Given the description of an element on the screen output the (x, y) to click on. 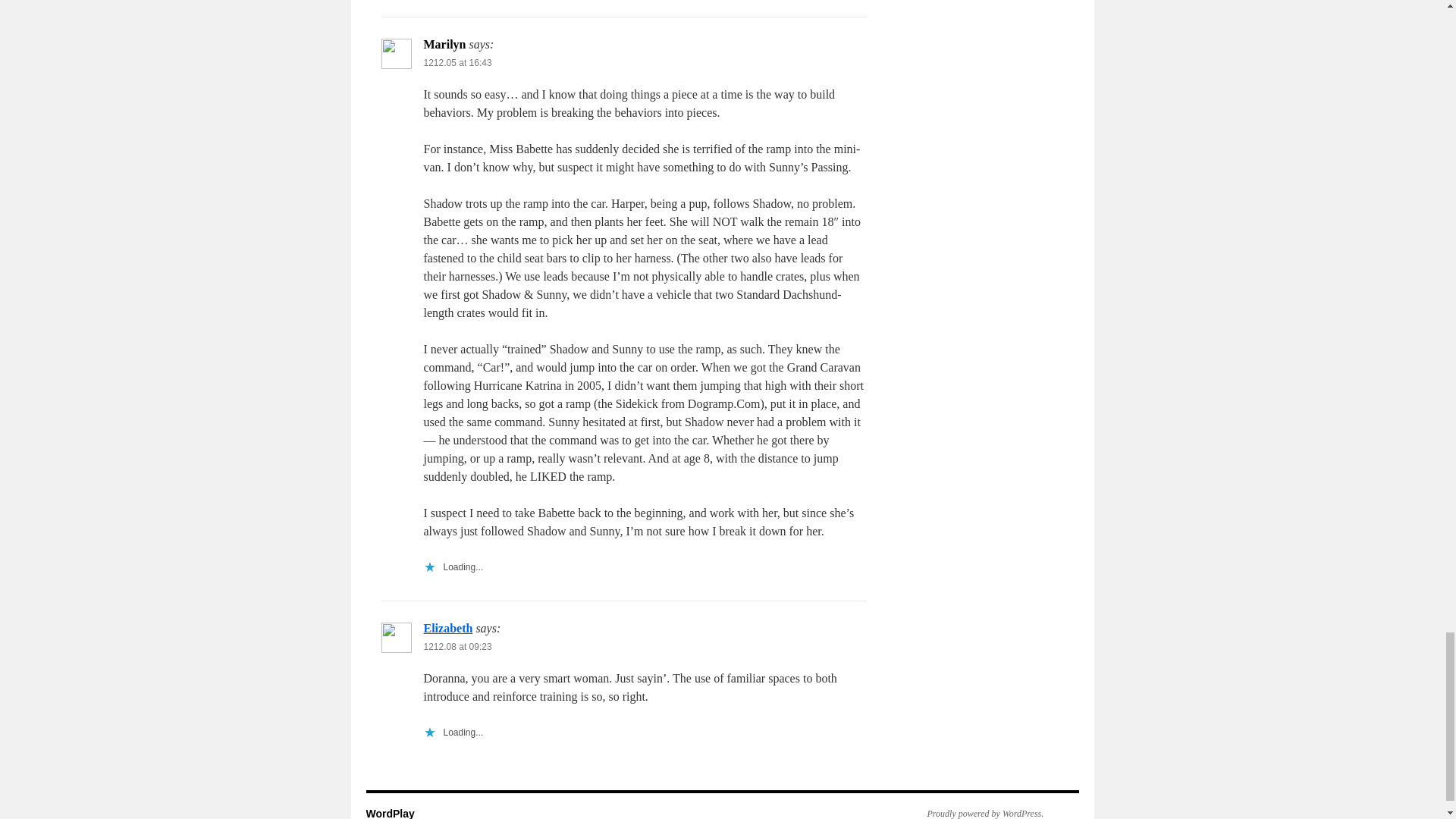
Elizabeth (447, 627)
1212.05 at 16:43 (457, 62)
1212.08 at 09:23 (457, 646)
